Given the description of an element on the screen output the (x, y) to click on. 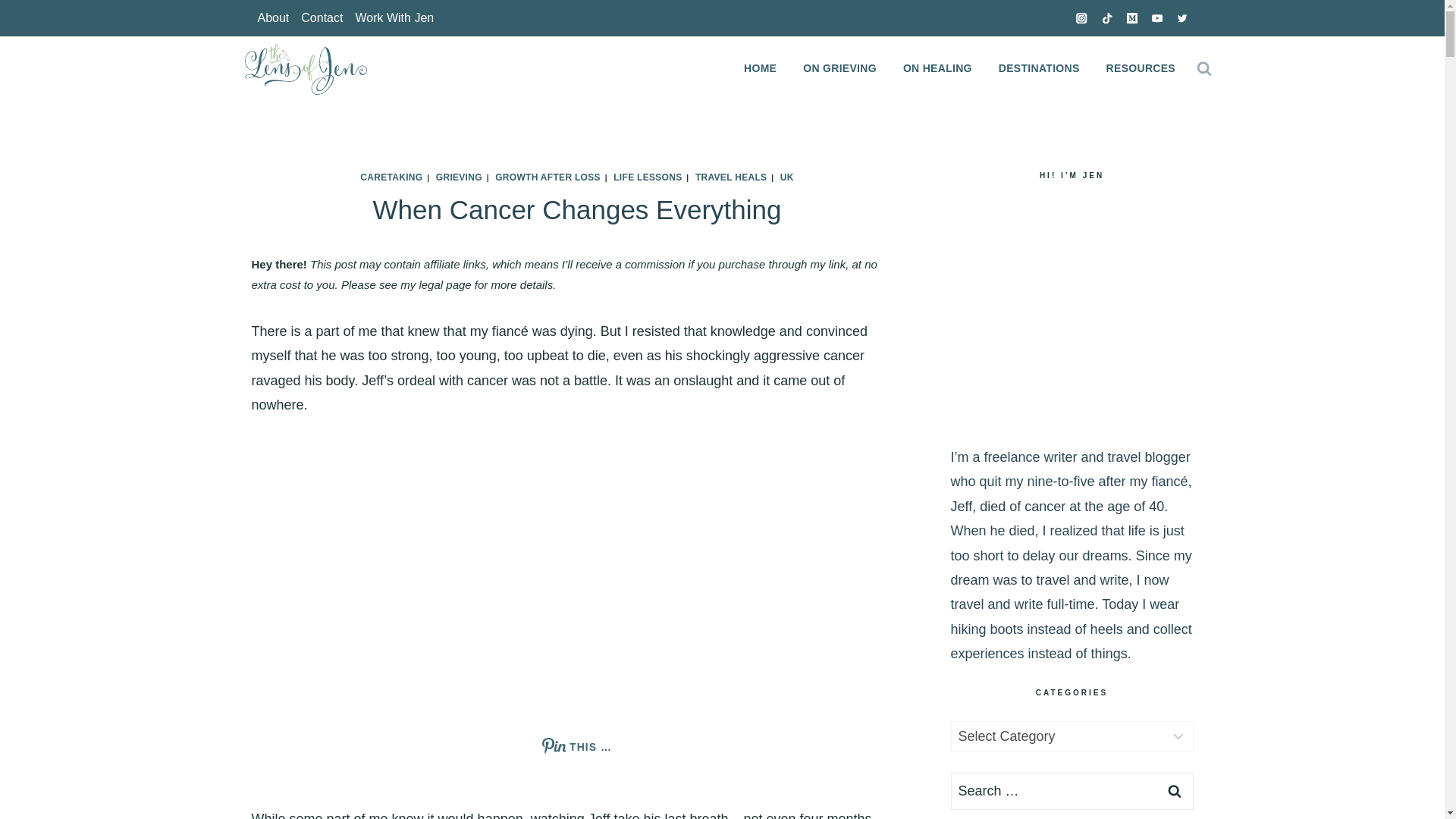
LIFE LESSONS (646, 176)
Work With Jen (394, 18)
Search (1174, 791)
ON GRIEVING (839, 67)
CARETAKING (390, 176)
GRIEVING (458, 176)
Contact (322, 18)
TRAVEL HEALS (731, 176)
Search (1174, 791)
HOME (760, 67)
